Given the description of an element on the screen output the (x, y) to click on. 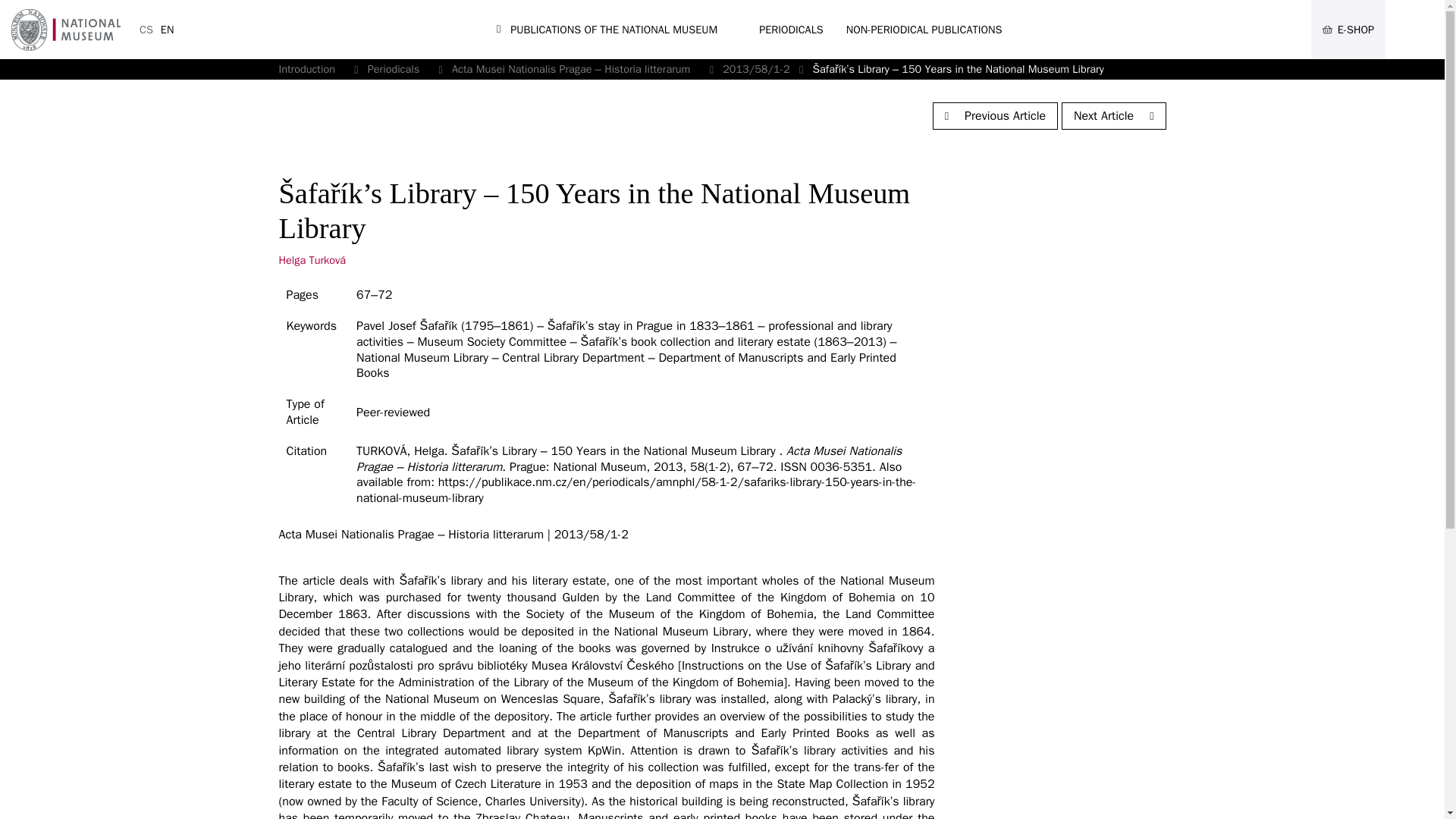
Issue Homepage (336, 115)
Introduction (306, 69)
CS (146, 29)
PERIODICALS (791, 29)
PUBLICATIONS OF THE NATIONAL MUSEUM (603, 29)
E-shop (1348, 29)
Next Article (1113, 115)
Next Article (1113, 115)
Homepage (306, 69)
Previous Article (995, 115)
E-SHOP (1348, 29)
NON-PERIODICAL PUBLICATIONS (923, 29)
Periodicals (393, 69)
Previous Article (995, 115)
Homepage (603, 29)
